Given the description of an element on the screen output the (x, y) to click on. 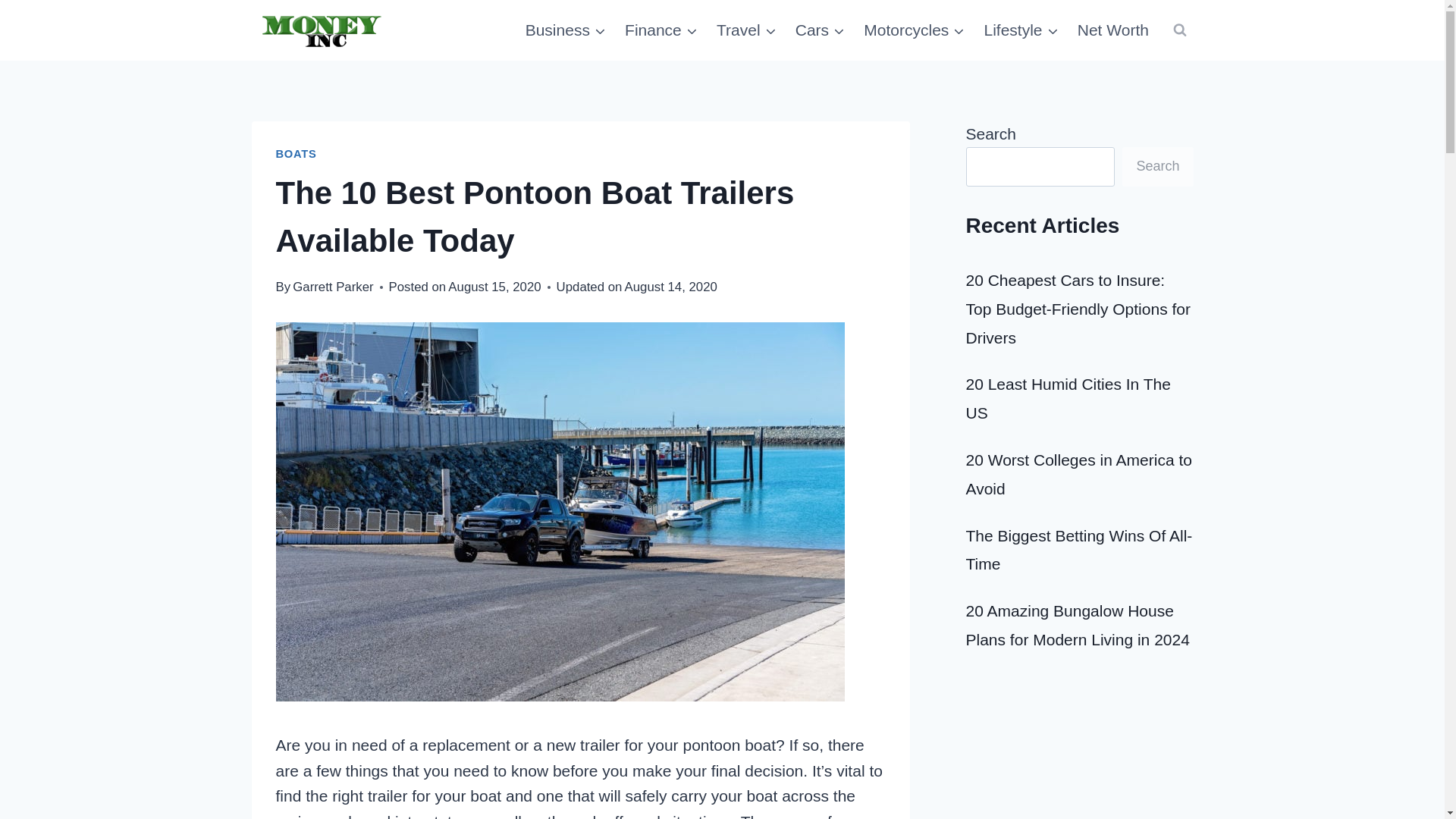
Cars (820, 30)
Business (564, 30)
Travel (746, 30)
Finance (661, 30)
